Given the description of an element on the screen output the (x, y) to click on. 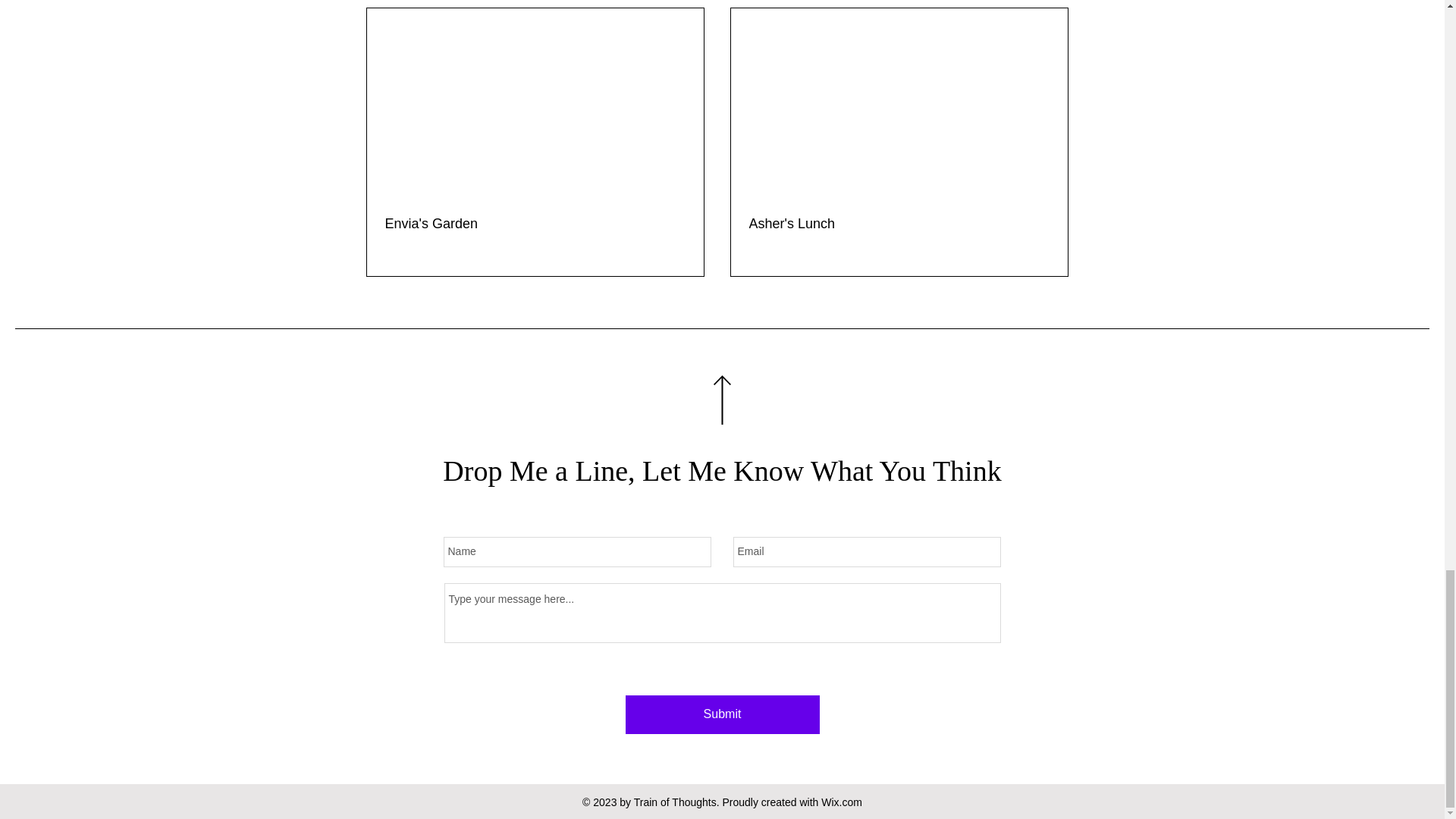
Wix.com (841, 802)
Asher's Lunch (899, 223)
Envia's Garden (535, 223)
Submit (721, 714)
